Given the description of an element on the screen output the (x, y) to click on. 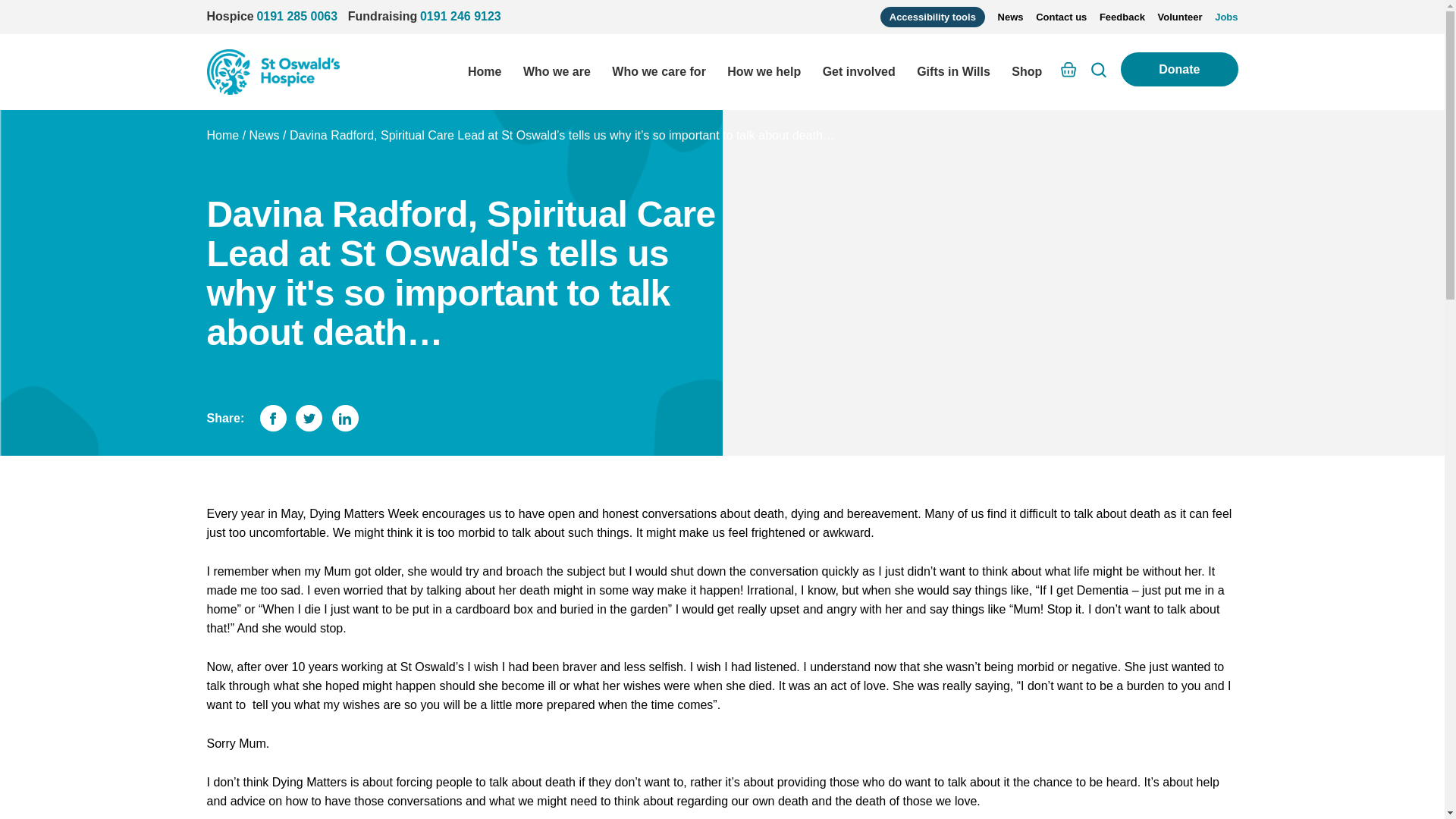
Contact us (1060, 16)
Who we are (556, 71)
Accessibility tools (932, 16)
0191 246 9123 (460, 15)
Jobs (1225, 16)
Feedback (1121, 16)
Volunteer (1179, 16)
Donate (1179, 69)
0191 285 0063 (296, 15)
News (1010, 16)
Home (483, 71)
